Given the description of an element on the screen output the (x, y) to click on. 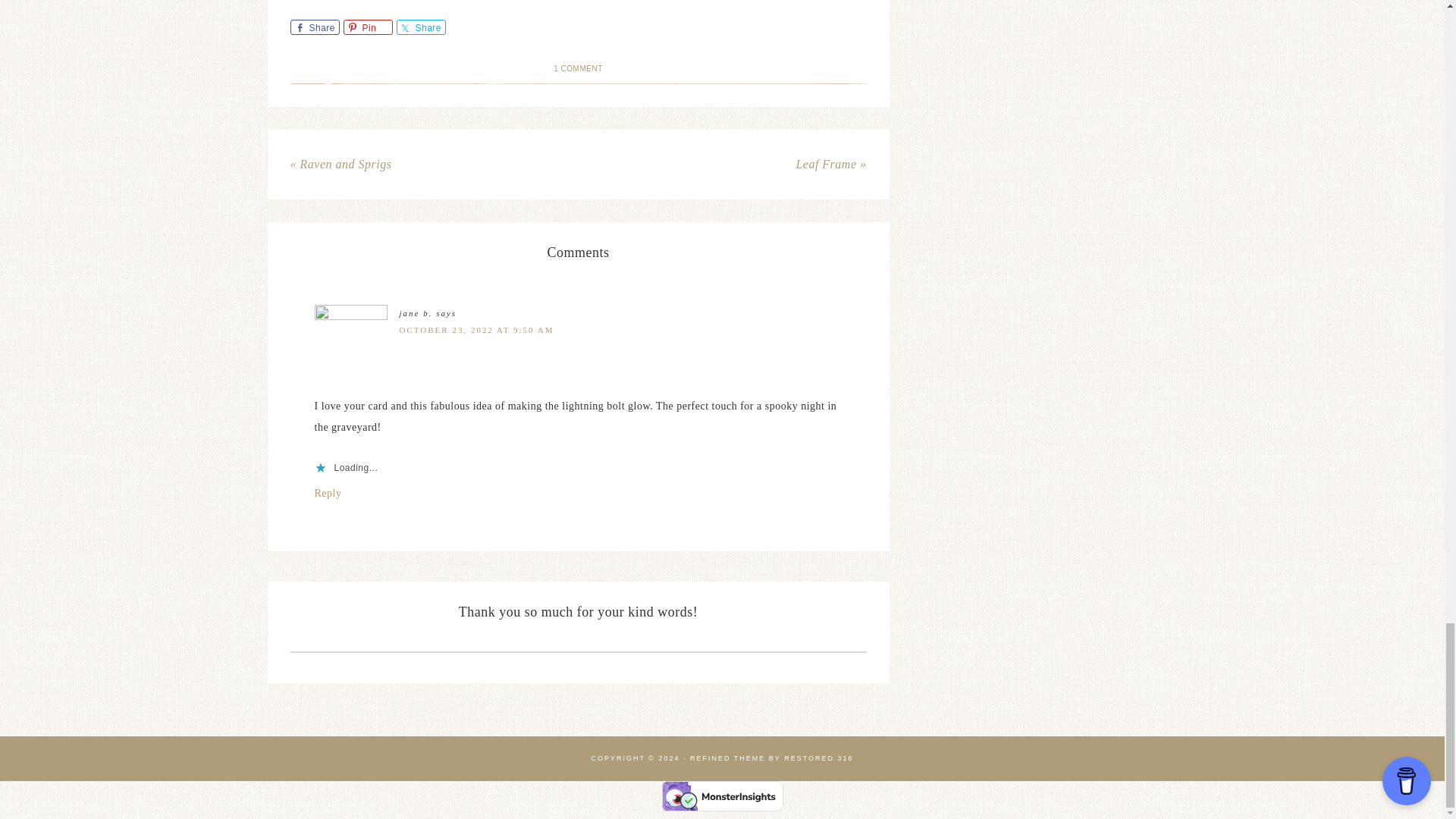
Verified by MonsterInsights (722, 796)
Share (314, 27)
1 COMMENT (577, 68)
OCTOBER 23, 2022 AT 9:50 AM (475, 329)
Pin (366, 27)
Share (420, 27)
Reply (327, 492)
